Given the description of an element on the screen output the (x, y) to click on. 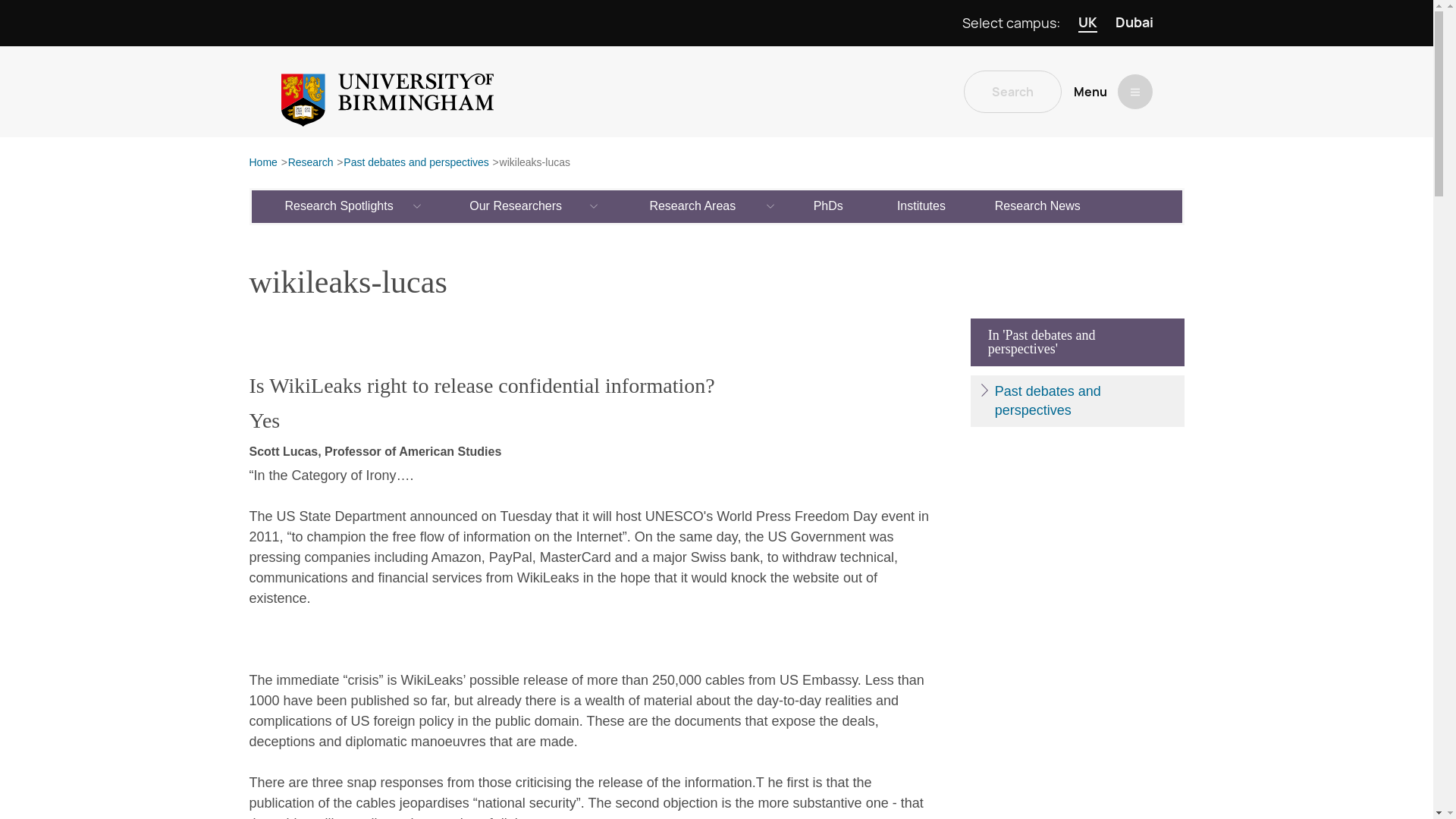
Search (1012, 91)
Our Researchers (516, 205)
Past debates and perspectives (415, 163)
Research (310, 163)
Dubai (1134, 23)
Research Areas (693, 205)
UK (1087, 23)
wikileaks-lucas (534, 163)
Home (262, 163)
Research Spotlights (339, 205)
